Given the description of an element on the screen output the (x, y) to click on. 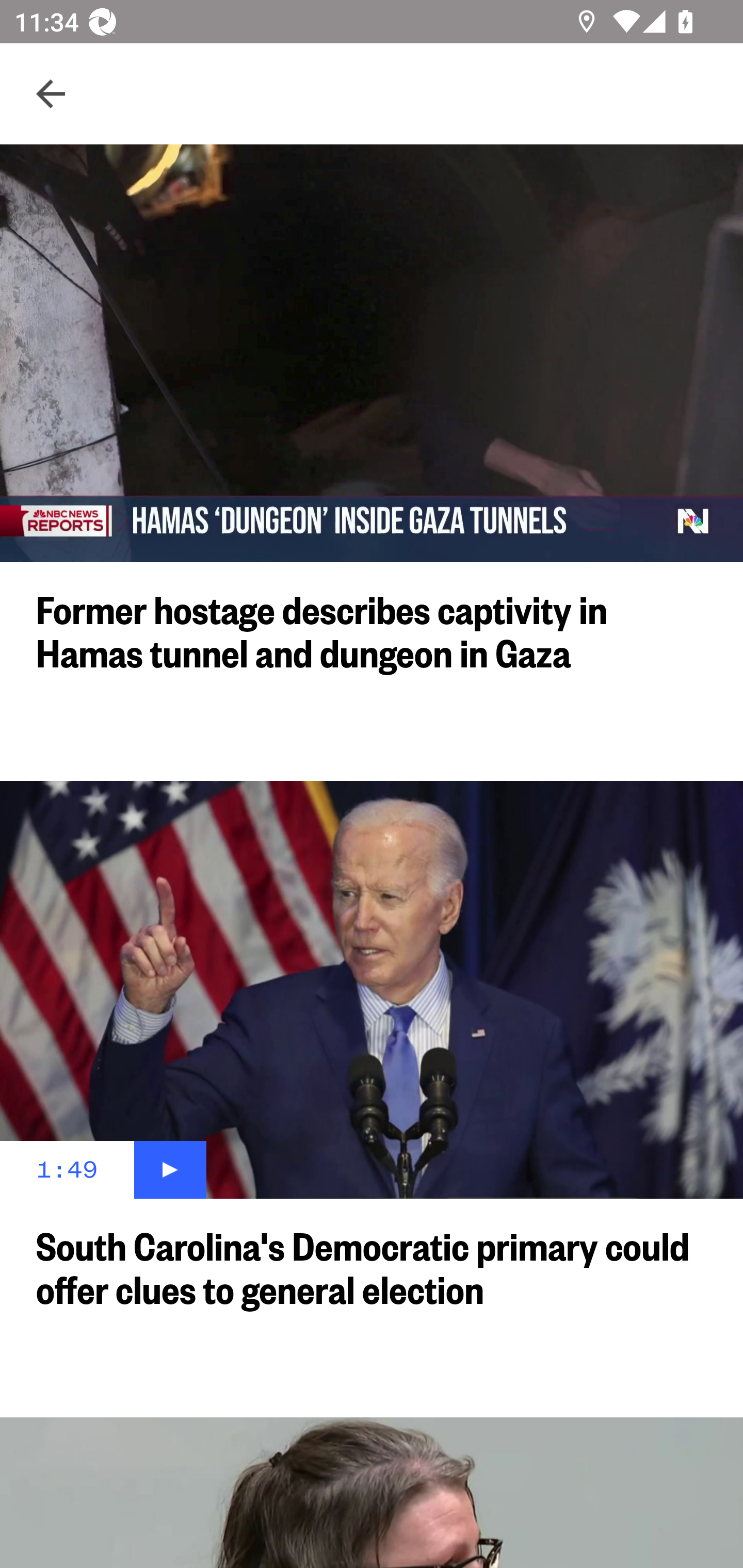
Navigate up (50, 93)
